Given the description of an element on the screen output the (x, y) to click on. 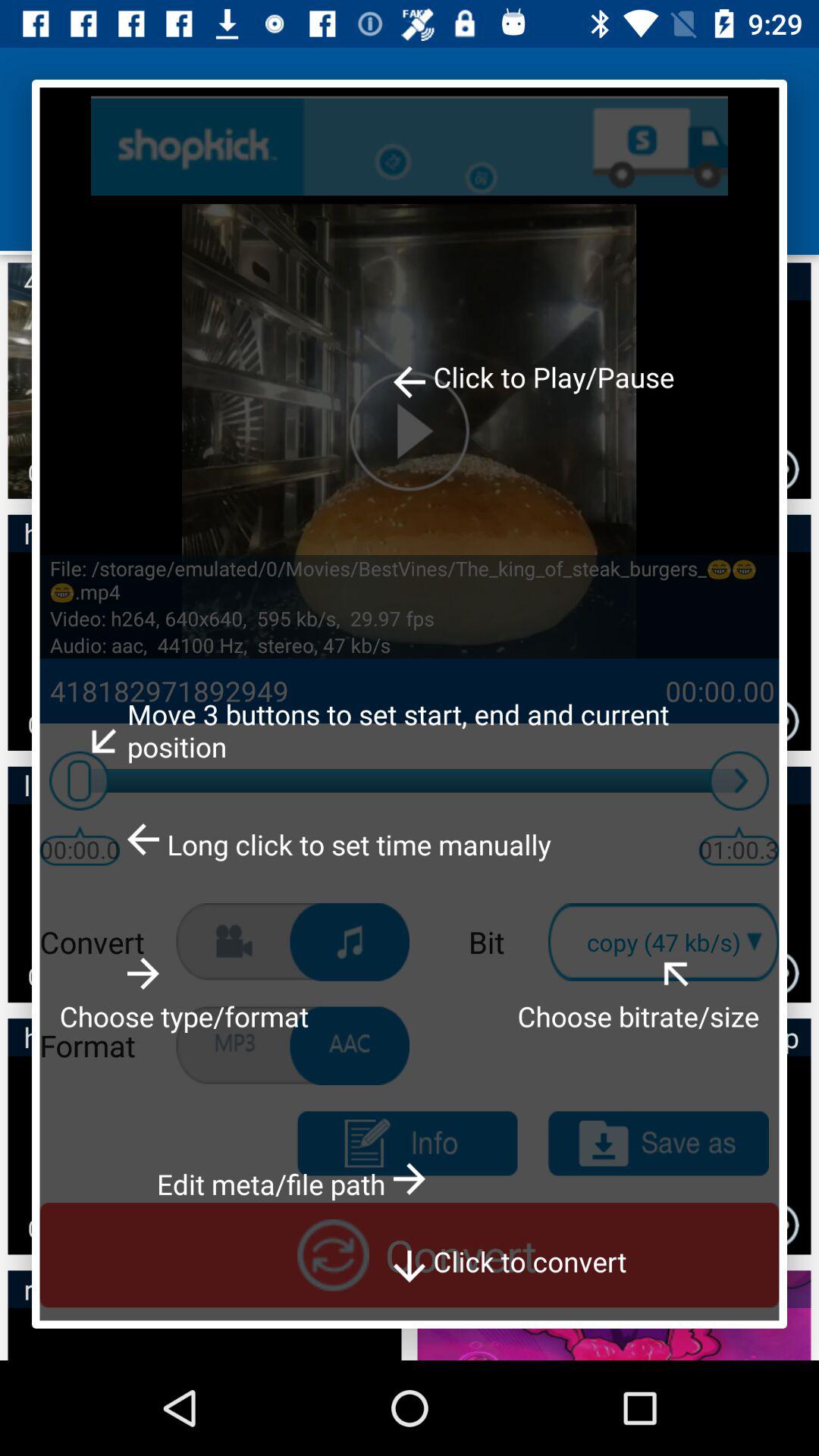
save item (657, 1143)
